Given the description of an element on the screen output the (x, y) to click on. 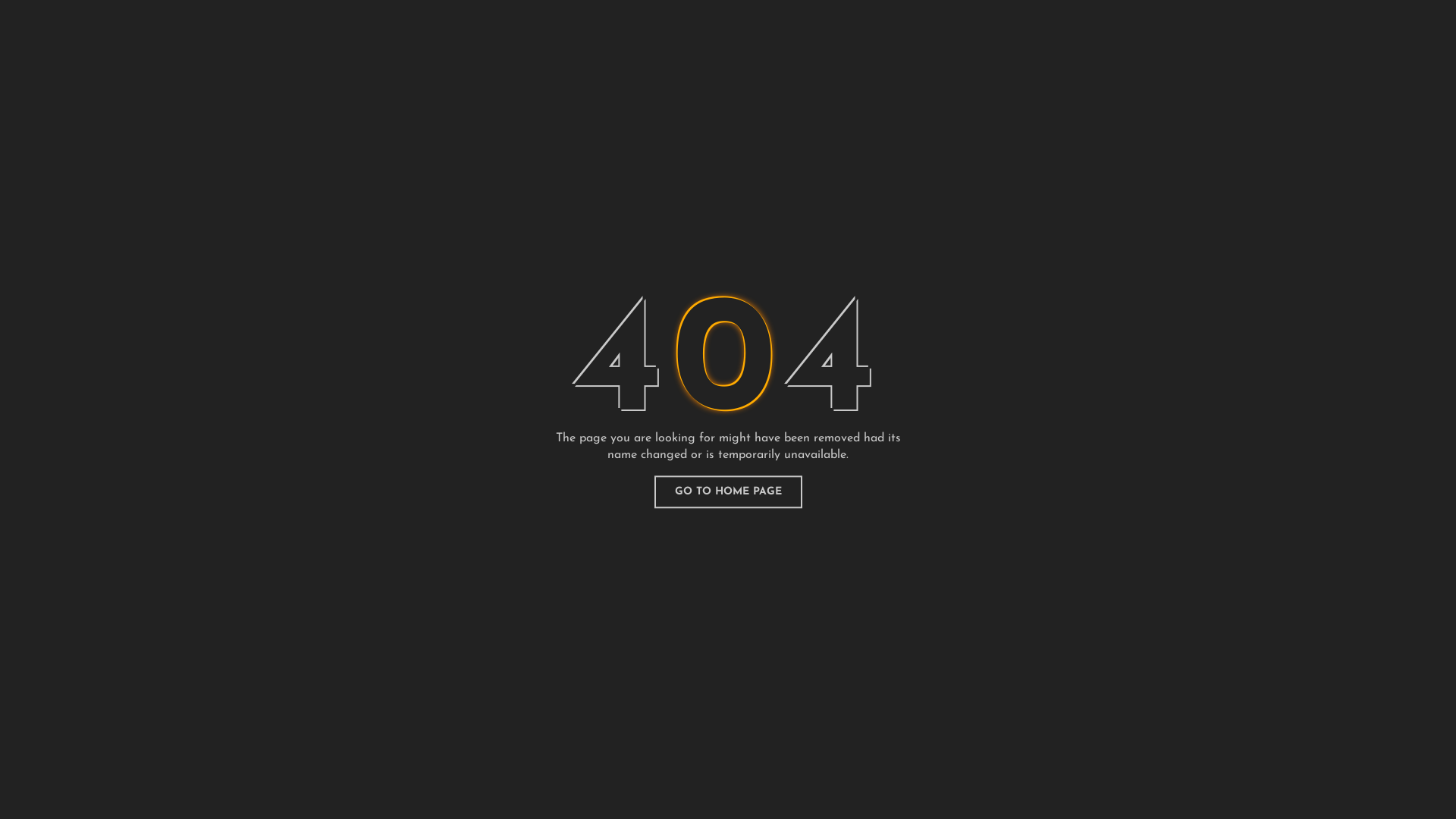
GO TO HOME PAGE Element type: text (727, 491)
